Given the description of an element on the screen output the (x, y) to click on. 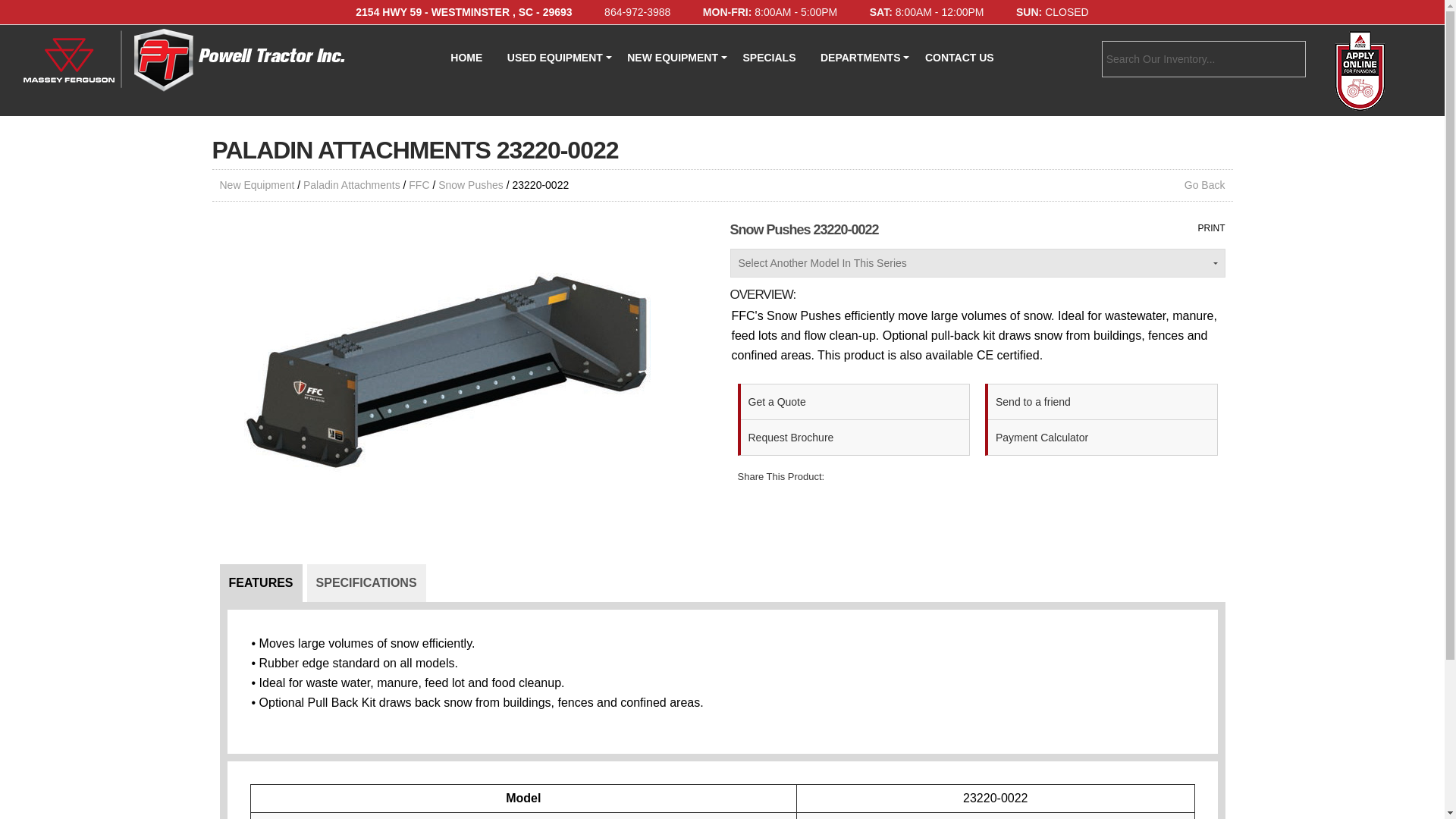
2154 HWY 59 - WESTMINSTER , SC - 29693 (463, 11)
HOME (466, 57)
SUN: CLOSED (1052, 11)
SAT: 8:00AM - 12:00PM (926, 11)
Powell Tractor Inc., South Carolina (180, 59)
USED EQUIPMENT (554, 57)
NEW EQUIPMENT (672, 57)
MON-FRI: 8:00AM - 5:00PM (770, 11)
Print This Page (1211, 227)
864-972-3988 (636, 11)
